Given the description of an element on the screen output the (x, y) to click on. 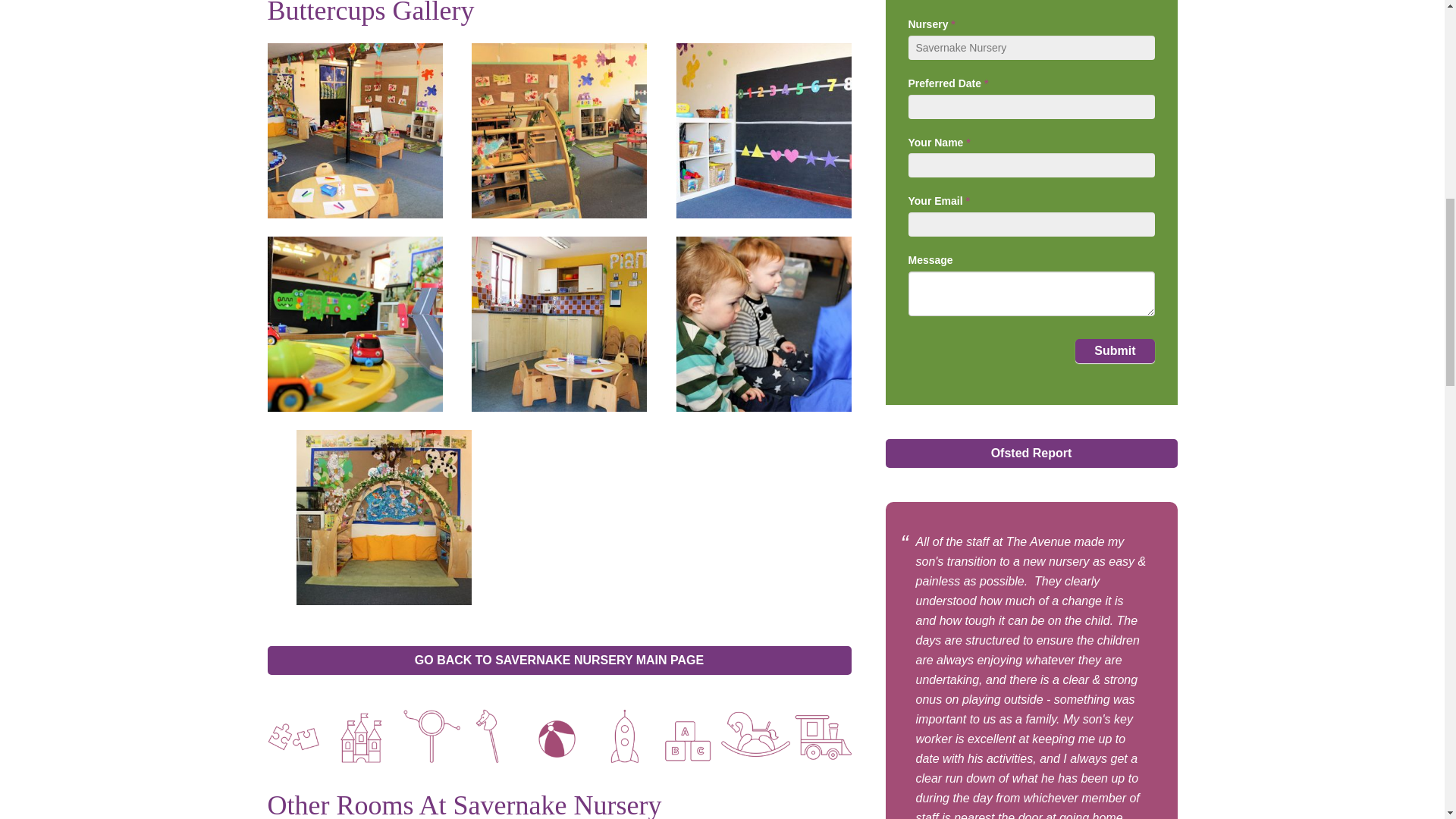
Savernake Nursery (1031, 47)
